Given the description of an element on the screen output the (x, y) to click on. 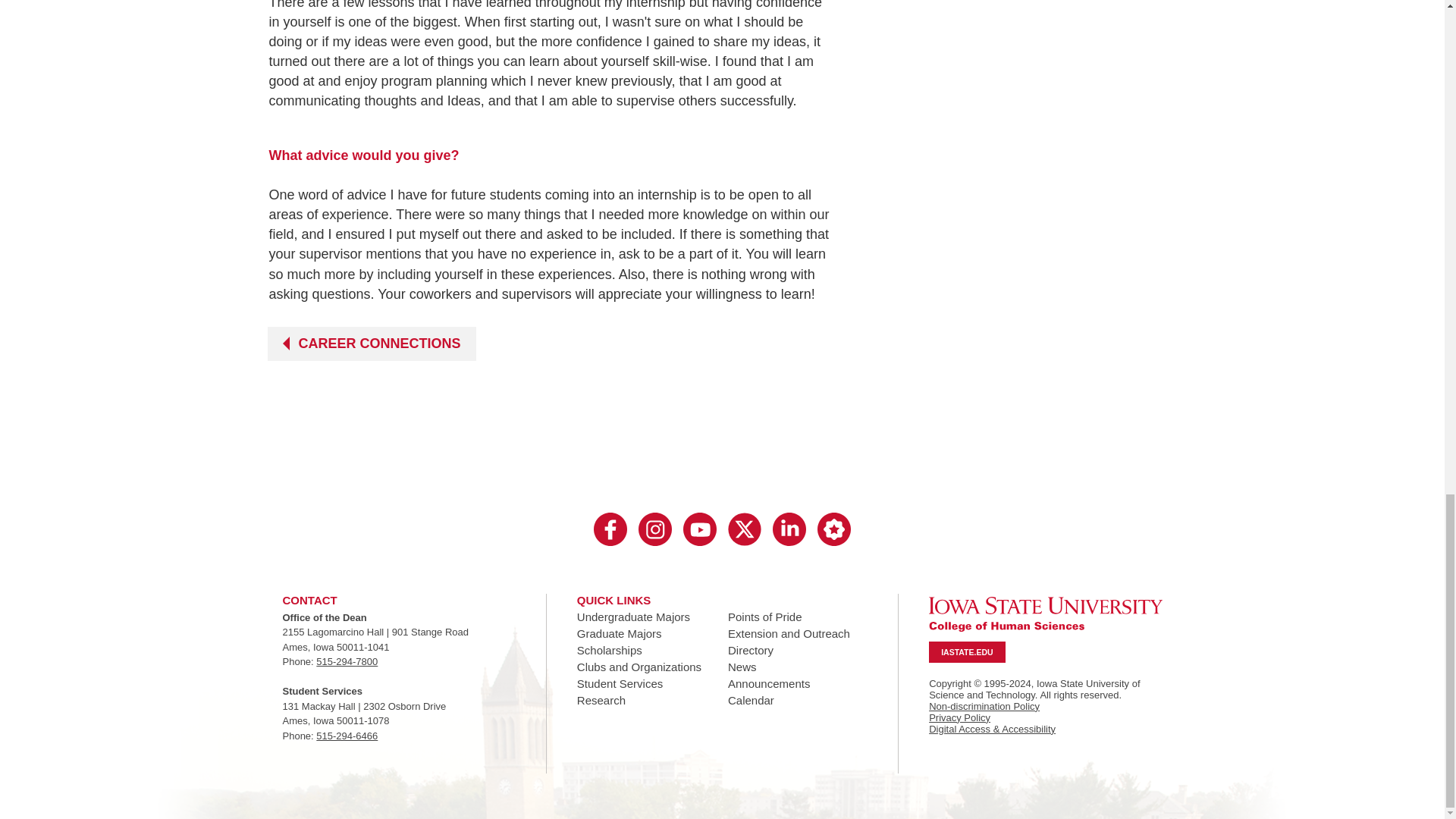
Visit College of Human Sciences on Twitter (744, 529)
Visit College of Human Sciences on LinkedIn (789, 529)
Visit College of Human Sciences on Instagram (655, 529)
Click to visit www.iastate.edu (966, 651)
Visit College of Human Sciences on Facebook (610, 529)
Visit College of Human Sciences on Merit Pages (833, 529)
Visit College of Human Sciences on YouTube (699, 529)
Click to go to www.iastate.edu (1044, 613)
Iowa State University (1044, 614)
